Given the description of an element on the screen output the (x, y) to click on. 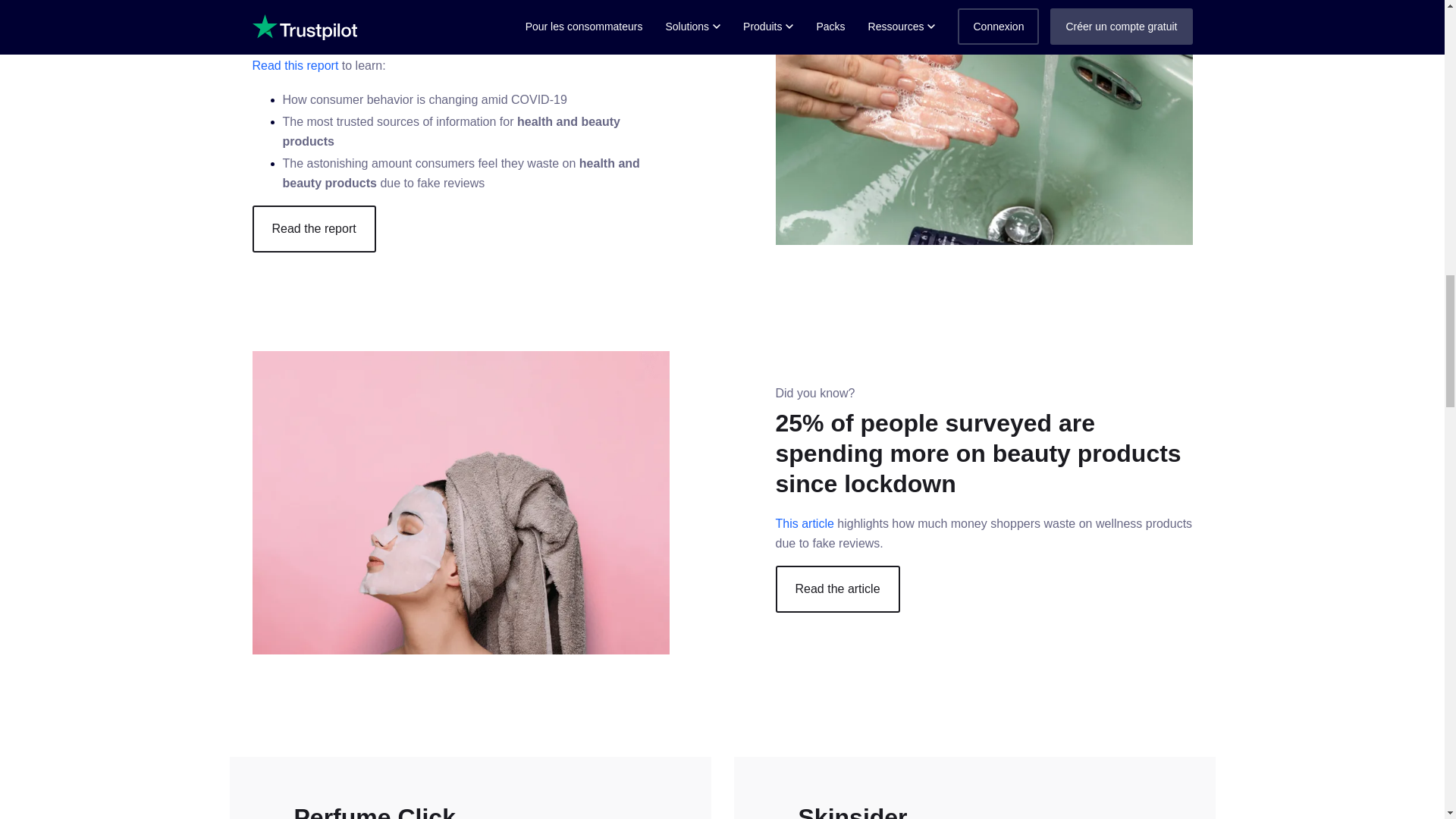
Read this report (294, 65)
Read the report (313, 228)
This article (803, 522)
Read the article (836, 588)
Image shows hands being washed on a sink with water running (983, 122)
